Given the description of an element on the screen output the (x, y) to click on. 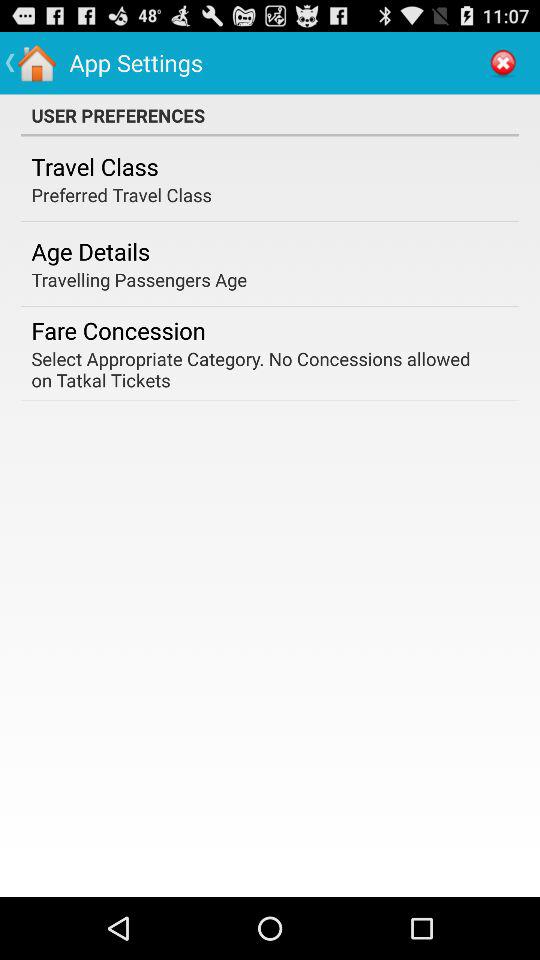
press age details item (90, 251)
